Given the description of an element on the screen output the (x, y) to click on. 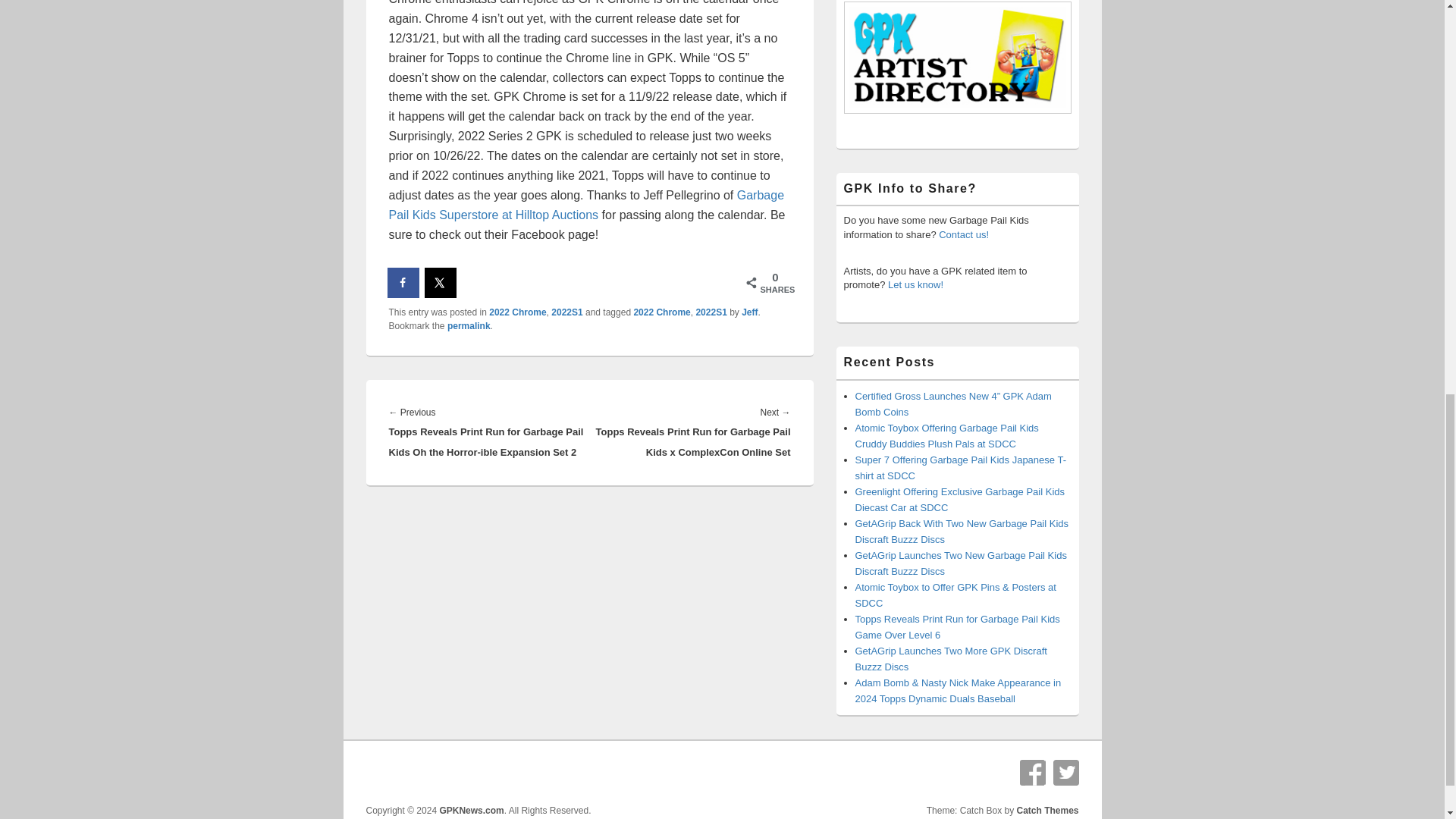
Catch Themes (1047, 810)
Share on X (441, 282)
GPKNews.com (471, 810)
Share on Facebook (403, 282)
